Given the description of an element on the screen output the (x, y) to click on. 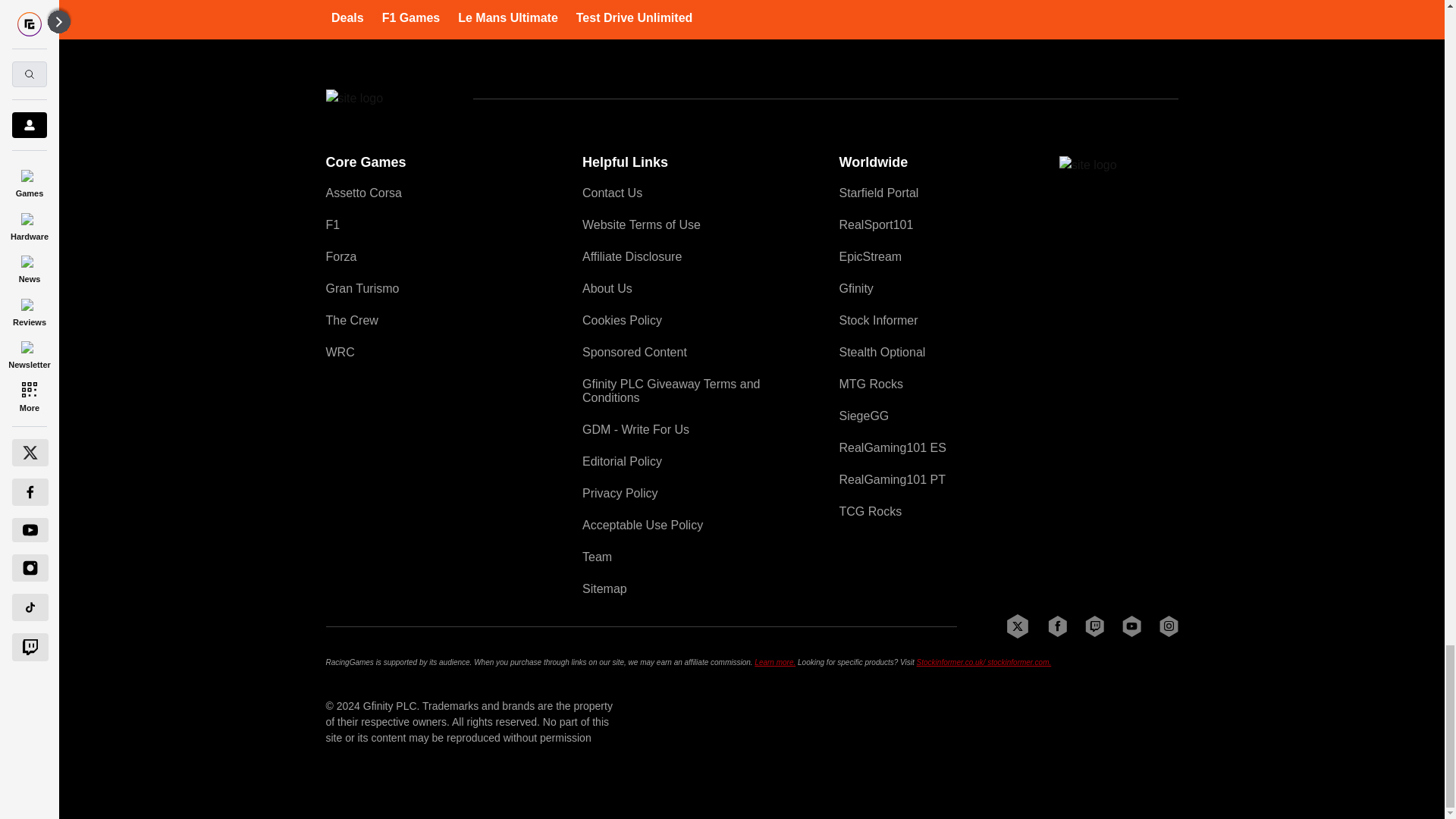
Latest News (1063, 2)
